Given the description of an element on the screen output the (x, y) to click on. 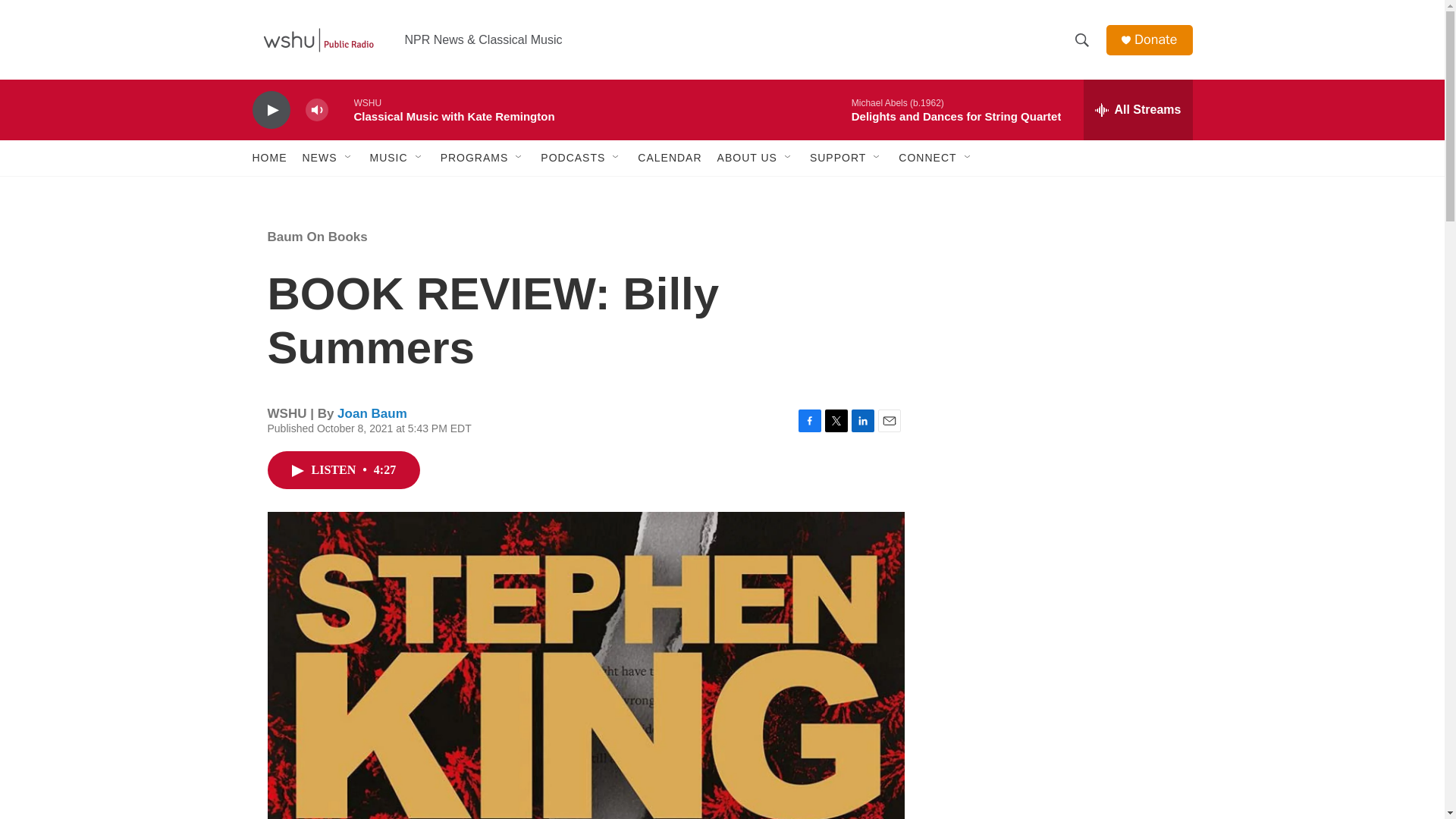
3rd party ad content (1062, 316)
3rd party ad content (1062, 536)
3rd party ad content (1062, 740)
